Given the description of an element on the screen output the (x, y) to click on. 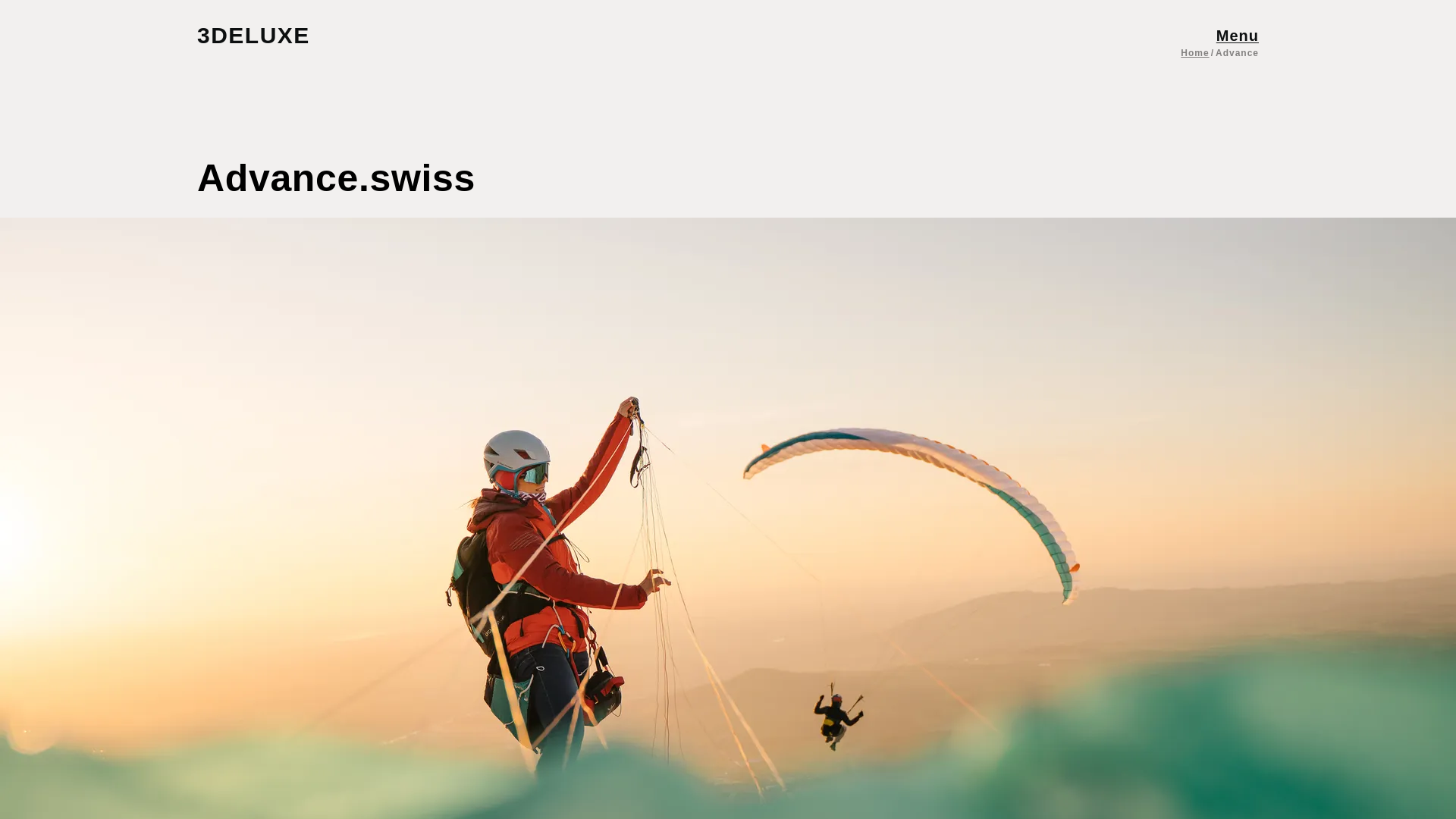
3DELUXE (268, 35)
Menu (1237, 35)
Home (1194, 52)
